Given the description of an element on the screen output the (x, y) to click on. 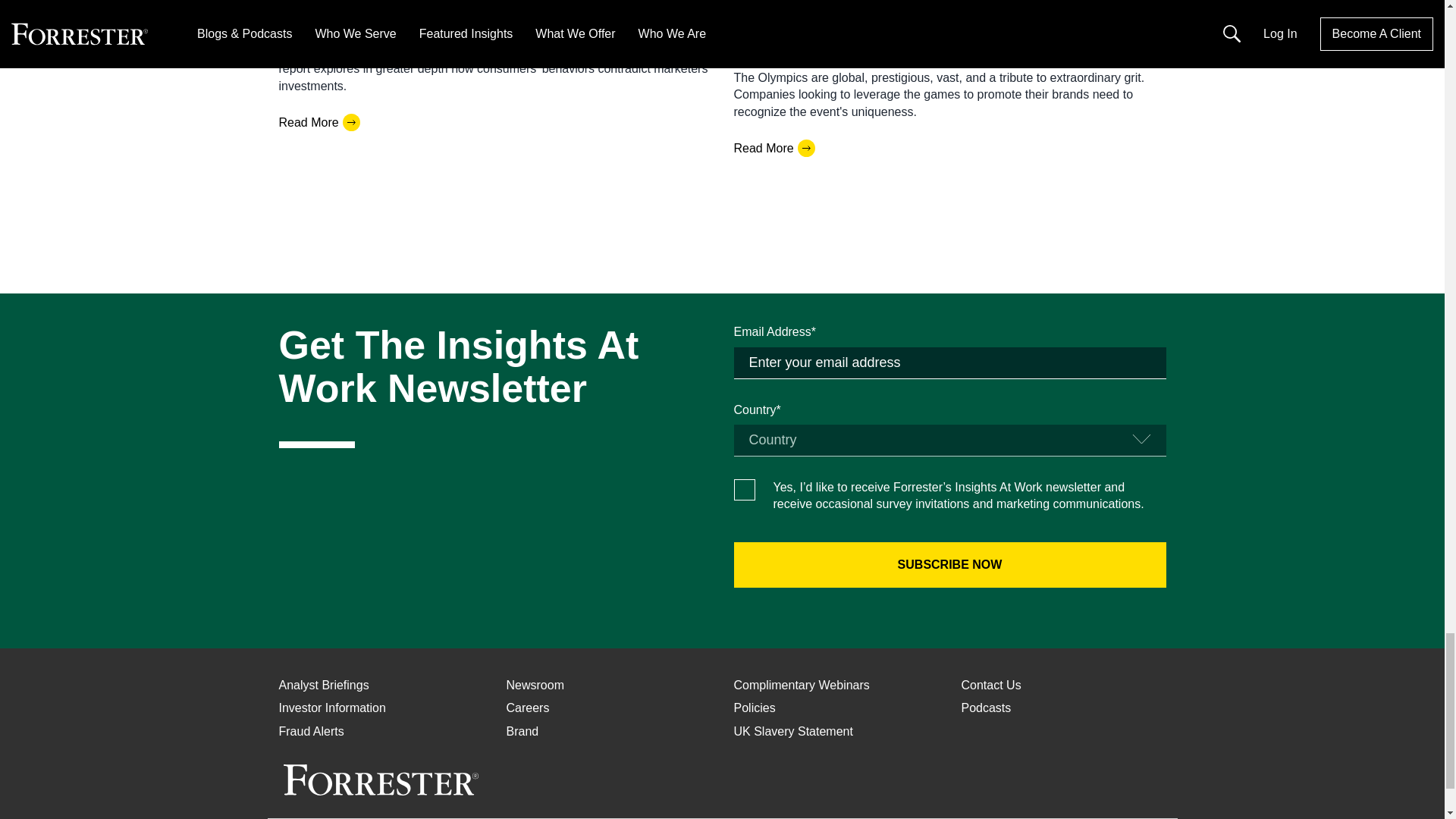
Dipanjan Chatterjee (787, 19)
Subscribe Now (949, 565)
